Given the description of an element on the screen output the (x, y) to click on. 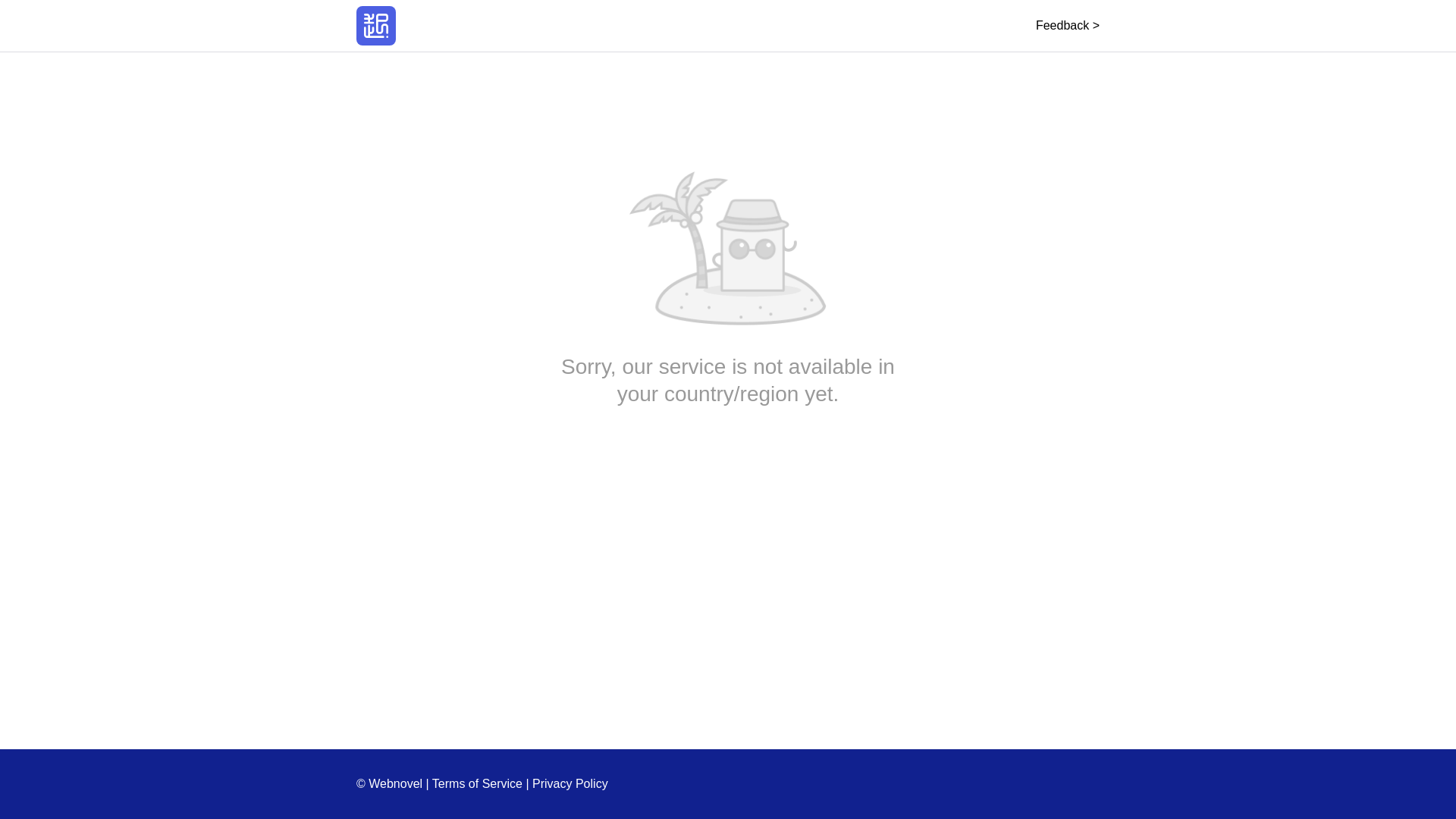
Webnovel (376, 25)
Feedback (1067, 24)
Terms of Service (477, 783)
Terms of Service (477, 783)
Privacy Policy (570, 783)
Webnovel (376, 25)
Privacy Policy (570, 783)
